Given the description of an element on the screen output the (x, y) to click on. 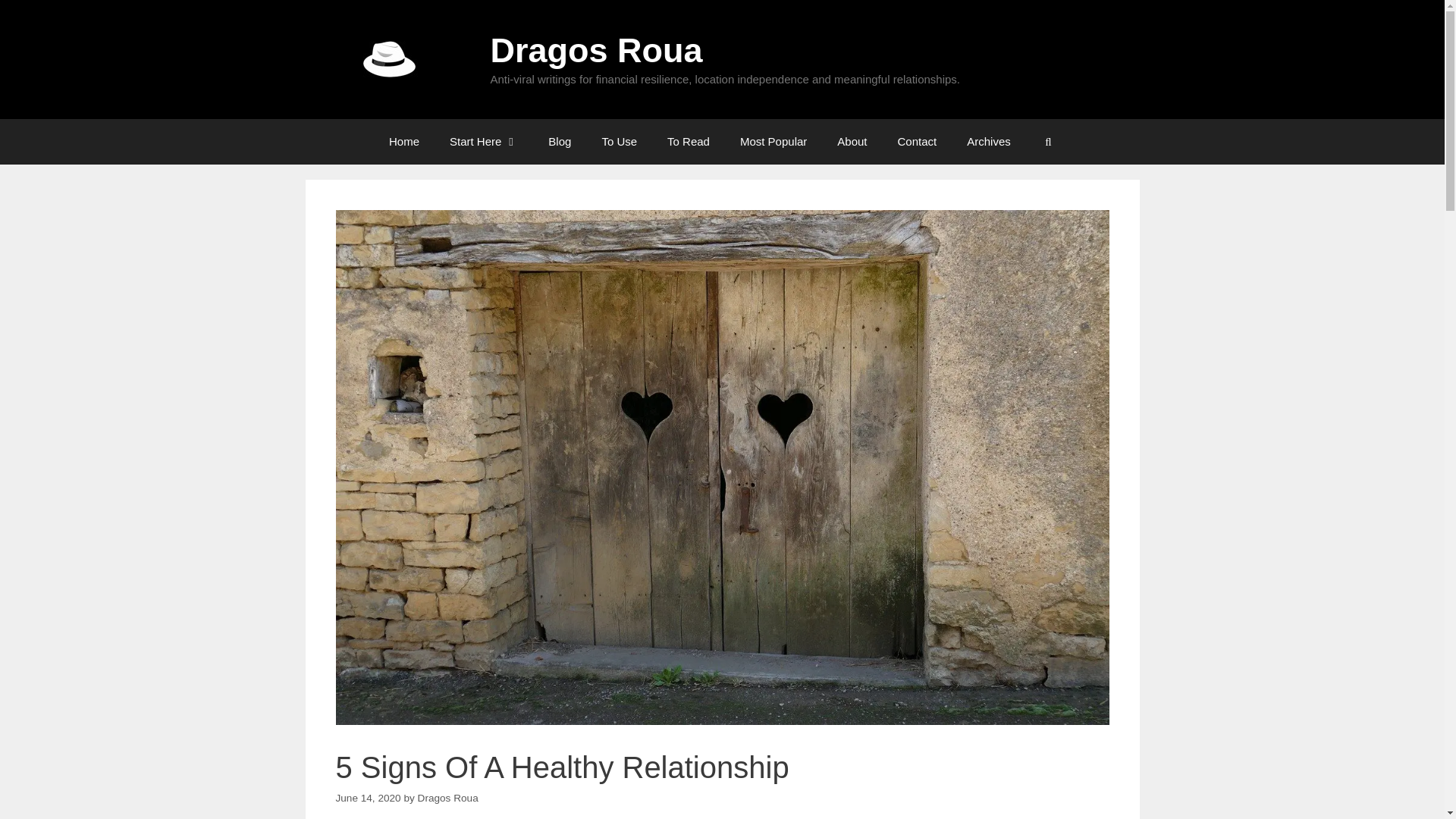
Dragos Roua (387, 59)
To Read (688, 140)
Blog (559, 140)
Most Popular (773, 140)
Dragos Roua (387, 57)
About (852, 140)
Archives (989, 140)
Contact (917, 140)
Dragos Roua (595, 50)
Start Here (482, 140)
